Given the description of an element on the screen output the (x, y) to click on. 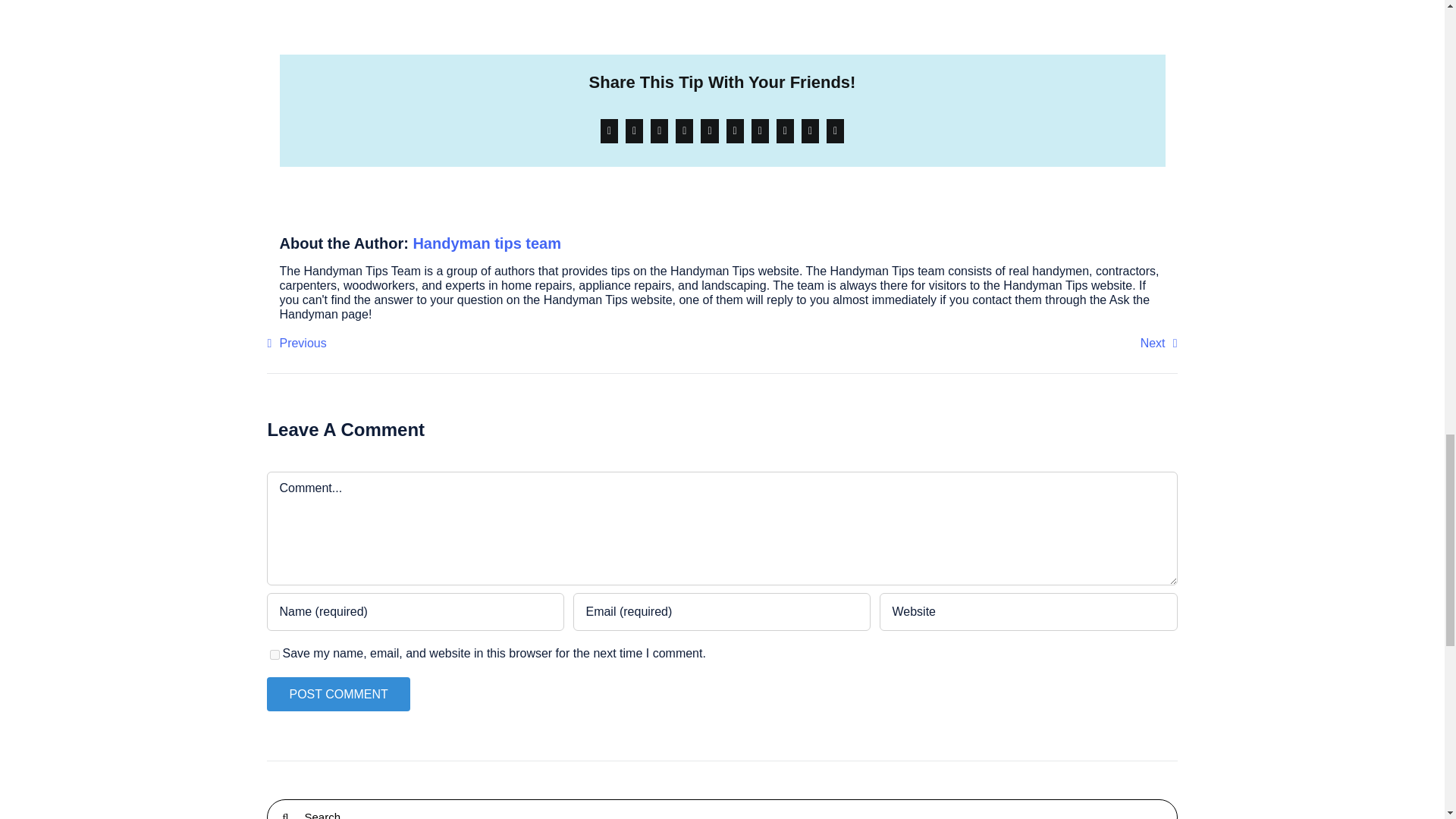
Handyman tips team (486, 243)
Post Comment (337, 694)
yes (274, 655)
Post Comment (337, 694)
Next (1158, 343)
Previous (296, 343)
